Given the description of an element on the screen output the (x, y) to click on. 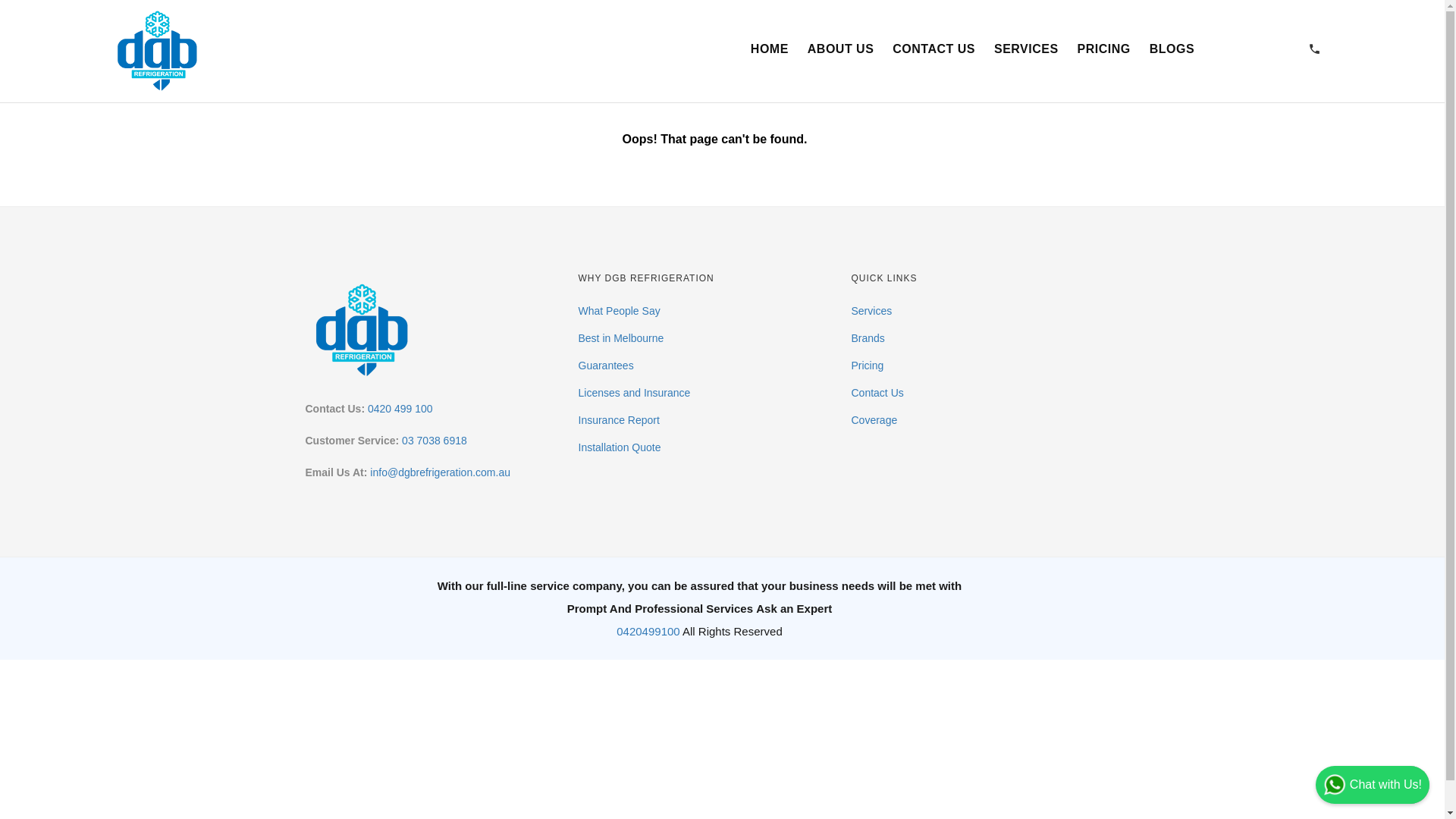
Coverage Element type: text (873, 420)
Licenses and Insurance Element type: text (633, 392)
Insurance Report Element type: text (617, 420)
0420499100 Element type: text (647, 630)
BLOGS Element type: text (1171, 49)
DGB Element type: hover (157, 49)
CONTACT US Element type: text (933, 49)
03 7038 6918 Element type: text (434, 440)
0420 499 100 Element type: text (400, 408)
Installation Quote Element type: text (618, 447)
info@dgbrefrigeration.com.au Element type: text (440, 472)
What People Say Element type: text (618, 310)
back to top Element type: hover (1410, 784)
Chat with Us! Element type: text (1372, 784)
HOME Element type: text (769, 49)
Brands Element type: text (867, 338)
call telephone Element type: hover (1314, 49)
SERVICES Element type: text (1026, 49)
Best in Melbourne Element type: text (620, 338)
Services Element type: text (870, 310)
PRICING Element type: text (1104, 49)
Guarantees Element type: text (605, 365)
ABOUT US Element type: text (840, 49)
Pricing Element type: text (866, 365)
Contact Us Element type: text (876, 392)
